Given the description of an element on the screen output the (x, y) to click on. 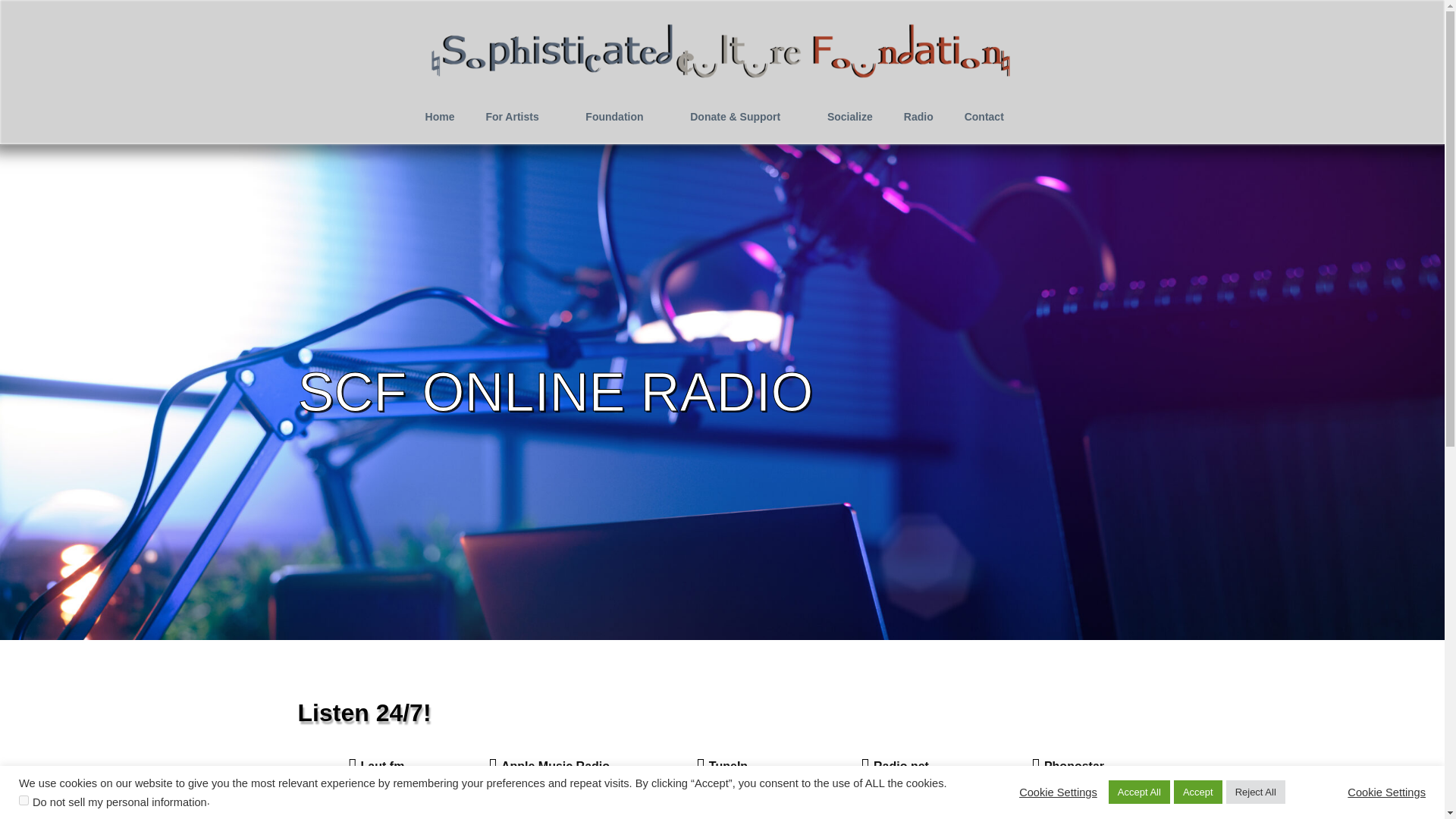
Radio.net (895, 766)
Apple Music Radio (548, 766)
Cookie Settings (1058, 792)
Laut.fm (376, 766)
Radio (918, 116)
Home (439, 116)
Foundation (622, 116)
Contact (992, 116)
TuneIn (721, 766)
Accept (1198, 791)
